Given the description of an element on the screen output the (x, y) to click on. 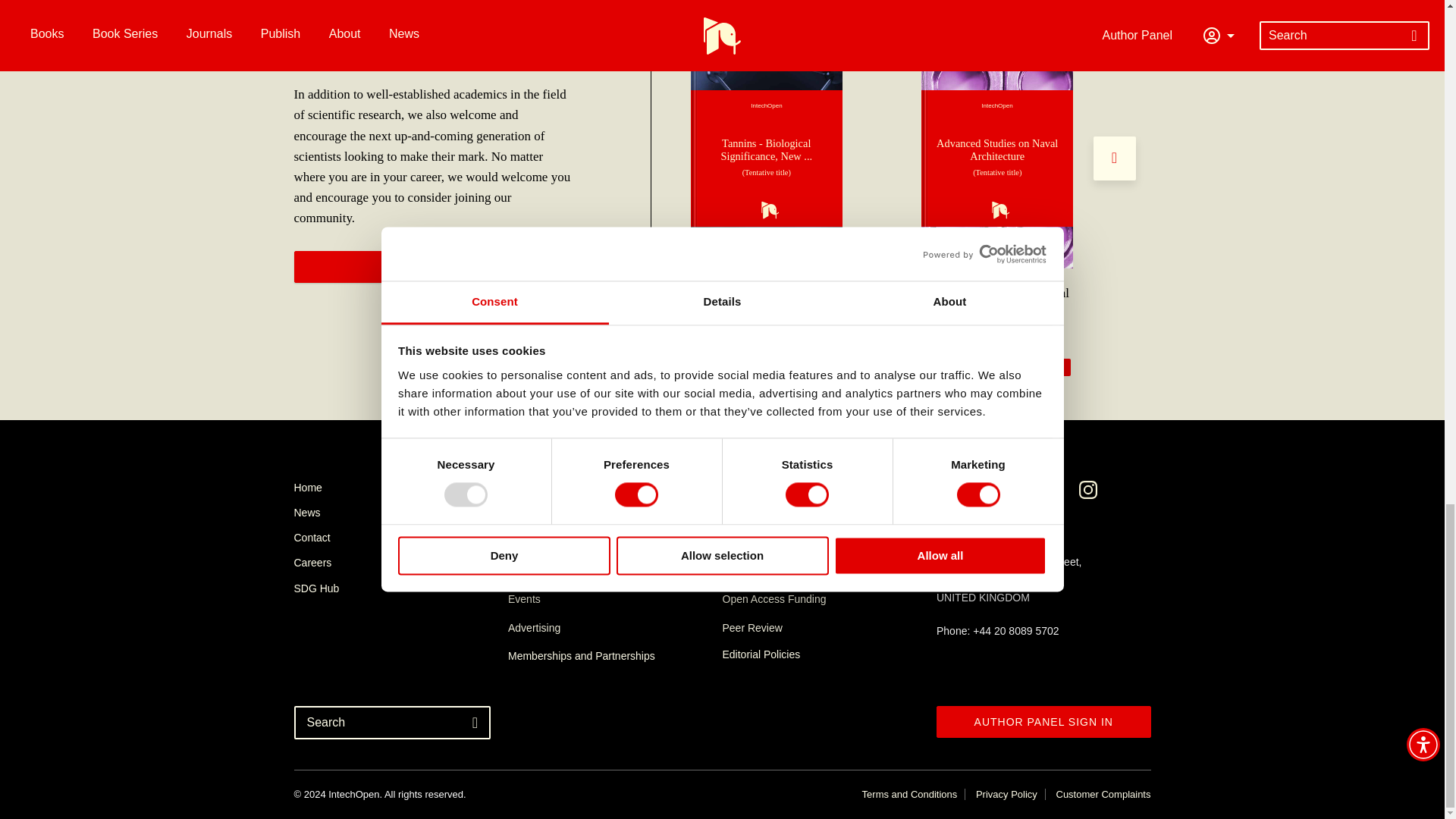
IntechOpen (997, 158)
IntechOpen (766, 158)
